Given the description of an element on the screen output the (x, y) to click on. 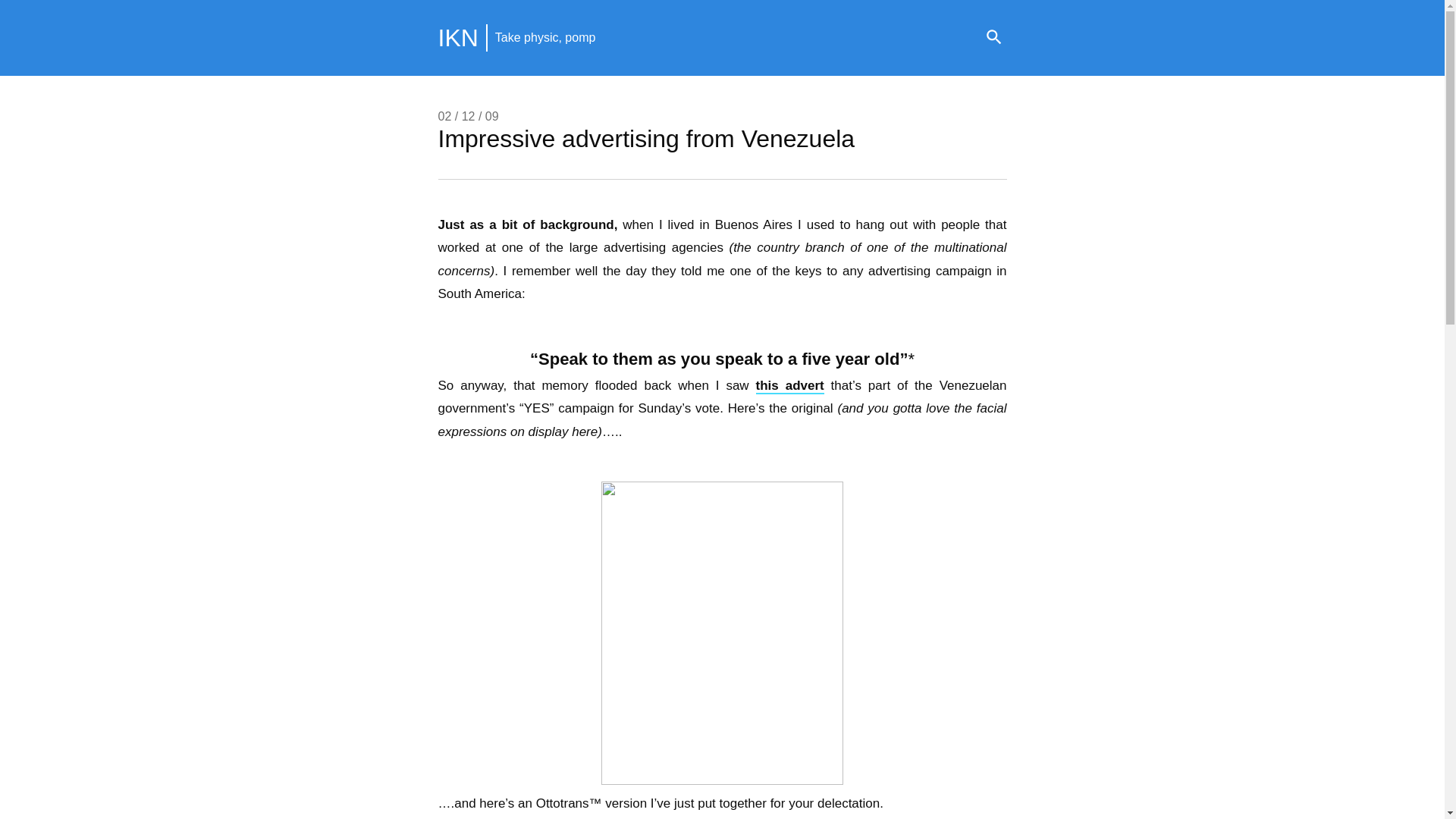
this advert (789, 385)
IKN (458, 37)
Impressive advertising from Venezuela (647, 138)
Search (993, 37)
